Given the description of an element on the screen output the (x, y) to click on. 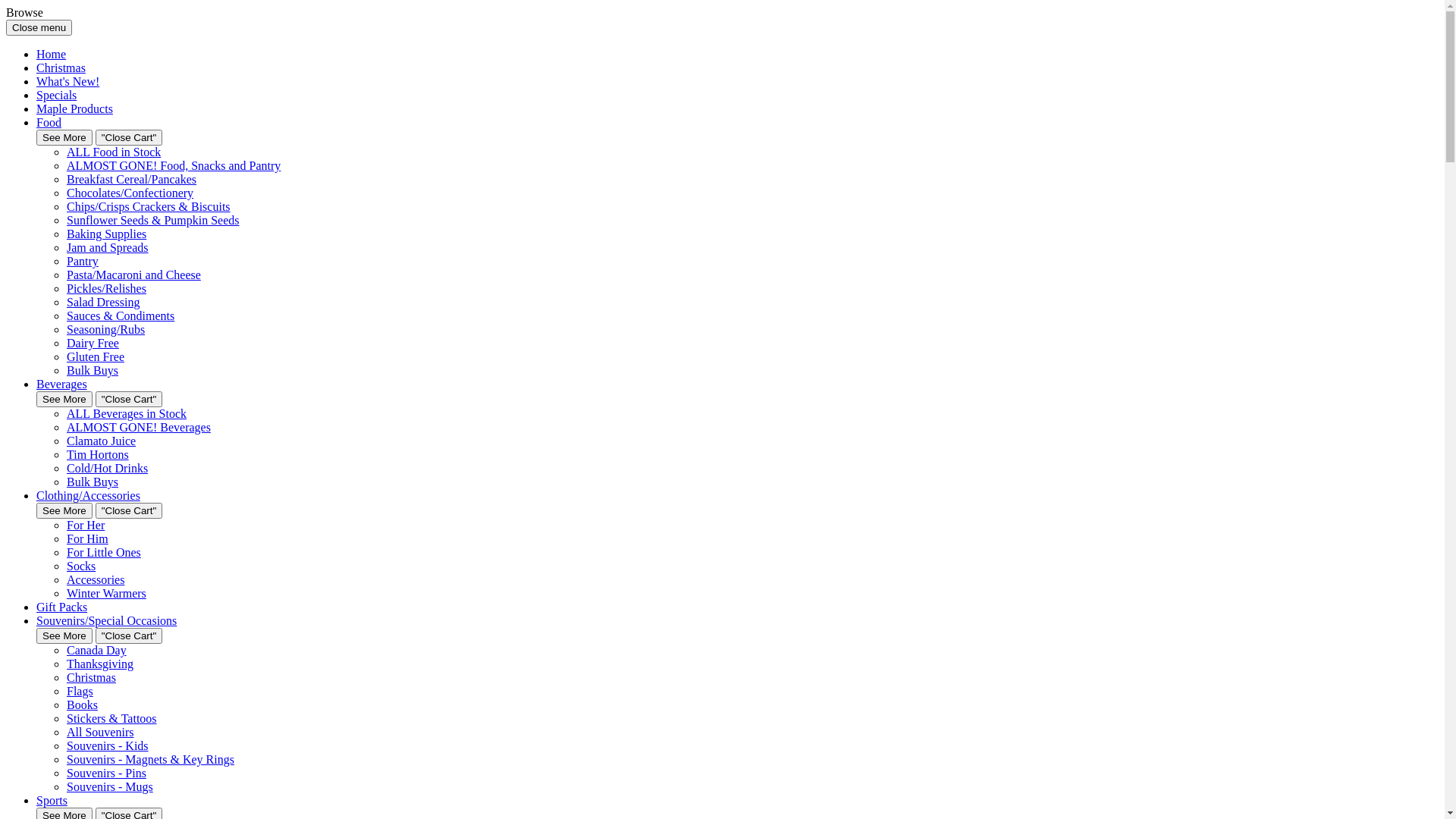
Cold/Hot Drinks Element type: text (106, 467)
Souvenirs - Magnets & Key Rings Element type: text (150, 759)
Clothing/Accessories Element type: text (88, 495)
What's New! Element type: text (67, 81)
Accessories Element type: text (95, 579)
Clamato Juice Element type: text (100, 440)
Thanksgiving Element type: text (99, 663)
See More Element type: text (64, 399)
Chocolates/Confectionery Element type: text (129, 192)
Gift Packs Element type: text (61, 606)
Pasta/Macaroni and Cheese Element type: text (133, 274)
Bulk Buys Element type: text (92, 481)
Sports Element type: text (51, 799)
Tim Hortons Element type: text (97, 454)
Souvenirs/Special Occasions Element type: text (106, 620)
For Him Element type: text (87, 538)
For Her Element type: text (85, 524)
Sunflower Seeds & Pumpkin Seeds Element type: text (152, 219)
Jam and Spreads Element type: text (107, 247)
See More Element type: text (64, 635)
"Close Cart" Element type: text (128, 137)
Food Element type: text (48, 122)
Christmas Element type: text (91, 677)
Beverages Element type: text (61, 383)
Seasoning/Rubs Element type: text (105, 329)
Winter Warmers Element type: text (106, 592)
Chips/Crisps Crackers & Biscuits Element type: text (148, 206)
Maple Products Element type: text (74, 108)
Socks Element type: text (80, 565)
Books Element type: text (81, 704)
Flags Element type: text (79, 690)
ALL Food in Stock Element type: text (113, 151)
Stickers & Tattoos Element type: text (111, 718)
See More Element type: text (64, 510)
Gluten Free Element type: text (95, 356)
"Close Cart" Element type: text (128, 635)
Dairy Free Element type: text (92, 342)
Specials Element type: text (56, 94)
Canada Day Element type: text (96, 649)
Sauces & Condiments Element type: text (120, 315)
Souvenirs - Mugs Element type: text (109, 786)
Close menu Element type: text (39, 27)
ALMOST GONE! Food, Snacks and Pantry Element type: text (173, 165)
For Little Ones Element type: text (103, 552)
See More Element type: text (64, 137)
Bulk Buys Element type: text (92, 370)
ALMOST GONE! Beverages Element type: text (138, 426)
Pickles/Relishes Element type: text (106, 288)
ALL Beverages in Stock Element type: text (126, 413)
Breakfast Cereal/Pancakes Element type: text (131, 178)
Home Element type: text (50, 53)
Souvenirs - Pins Element type: text (106, 772)
Souvenirs - Kids Element type: text (107, 745)
Christmas Element type: text (60, 67)
Pantry Element type: text (82, 260)
Salad Dressing Element type: text (102, 301)
All Souvenirs Element type: text (99, 731)
Baking Supplies Element type: text (106, 233)
"Close Cart" Element type: text (128, 399)
"Close Cart" Element type: text (128, 510)
